Given the description of an element on the screen output the (x, y) to click on. 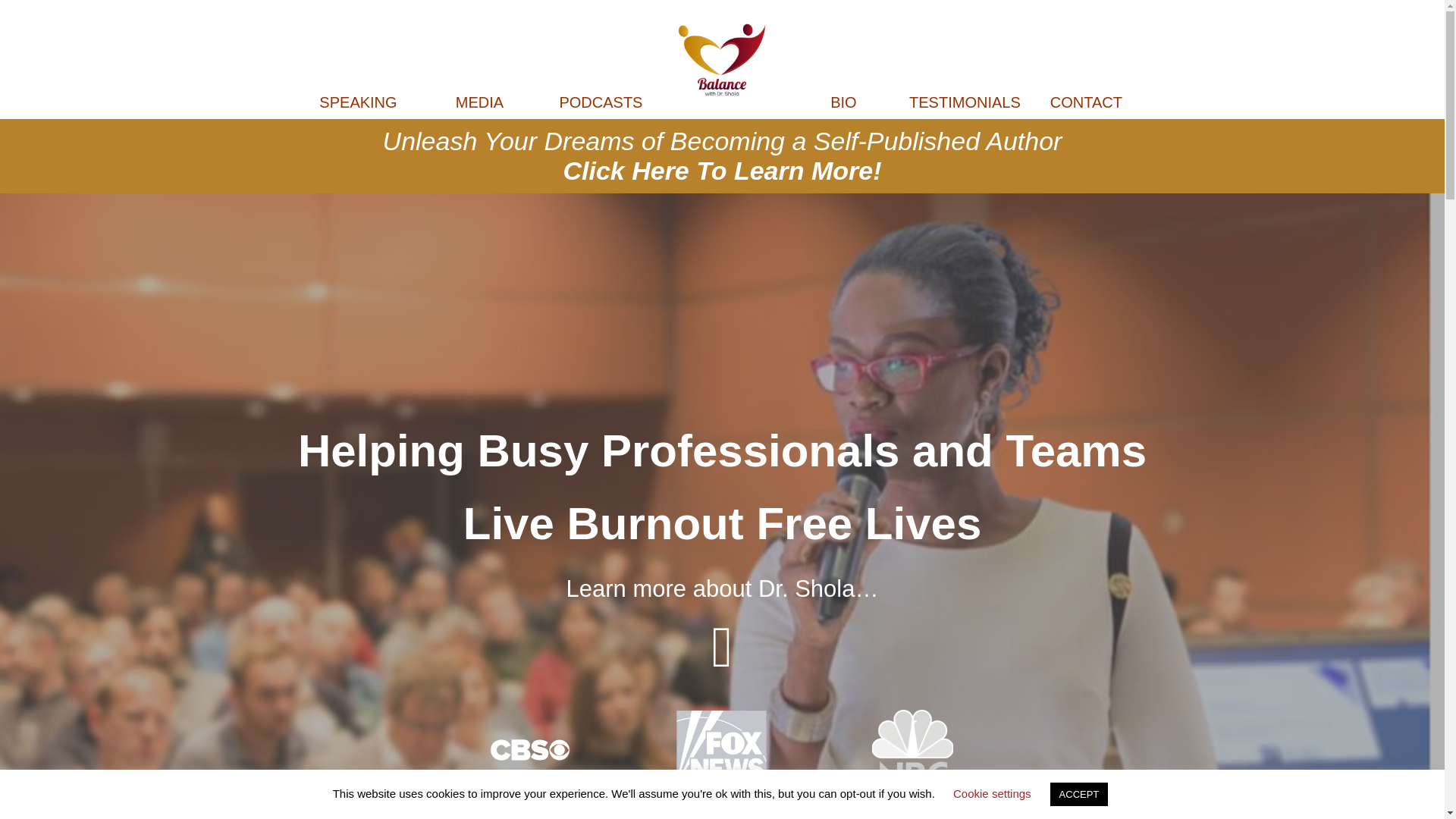
ACCEPT (1078, 793)
Cookie settings (991, 793)
BIO (842, 102)
PODCASTS (600, 102)
Click Here To Learn More! (721, 170)
SPEAKING (357, 102)
TESTIMONIALS (964, 102)
MEDIA (479, 102)
CONTACT (1085, 102)
